Given the description of an element on the screen output the (x, y) to click on. 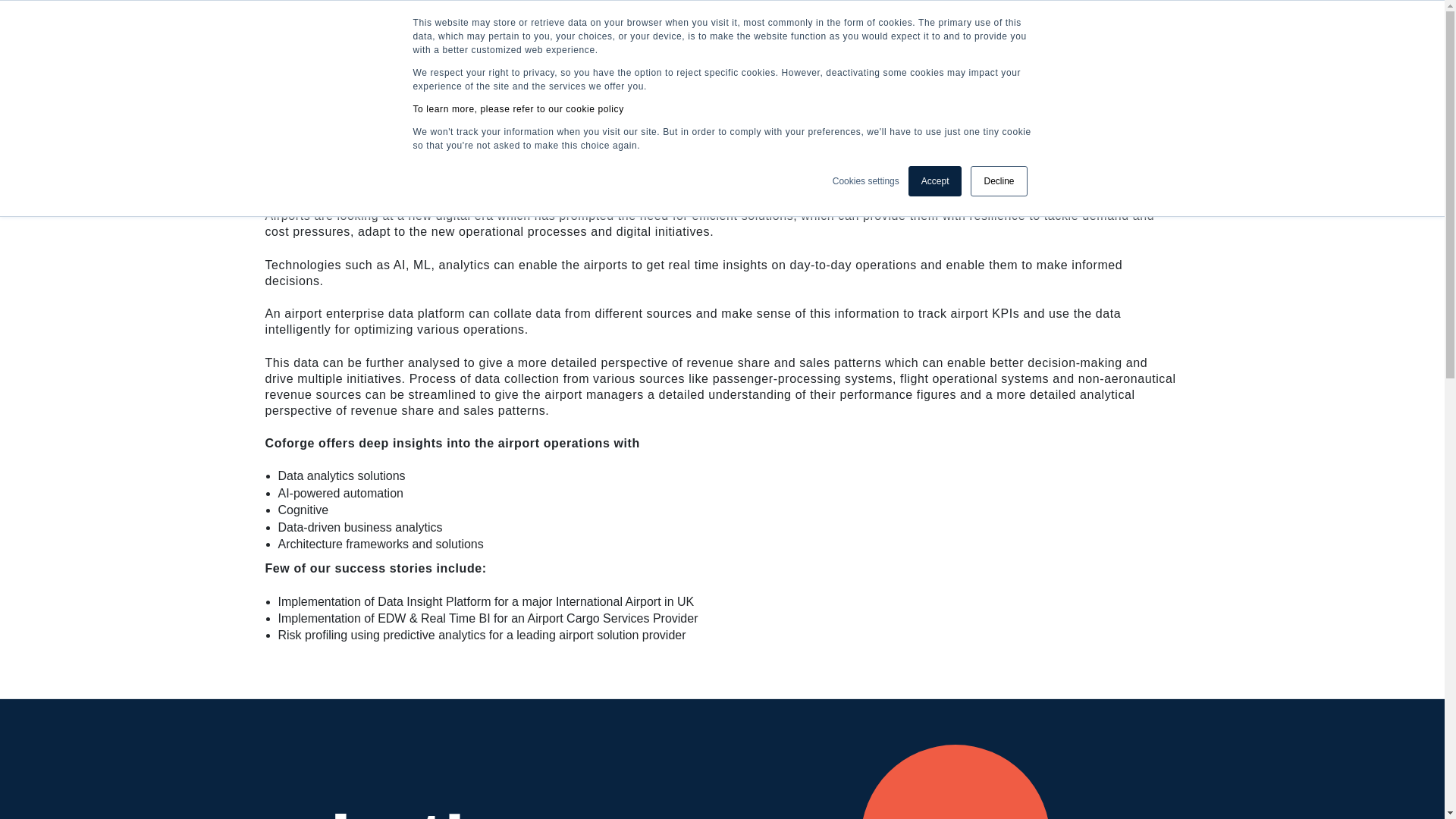
About Us (505, 38)
Coforge Logo (317, 37)
To learn more, please refer to our cookie policy (517, 109)
Accept (935, 181)
Decline (998, 181)
Industries (587, 38)
Cookies settings (865, 181)
